Given the description of an element on the screen output the (x, y) to click on. 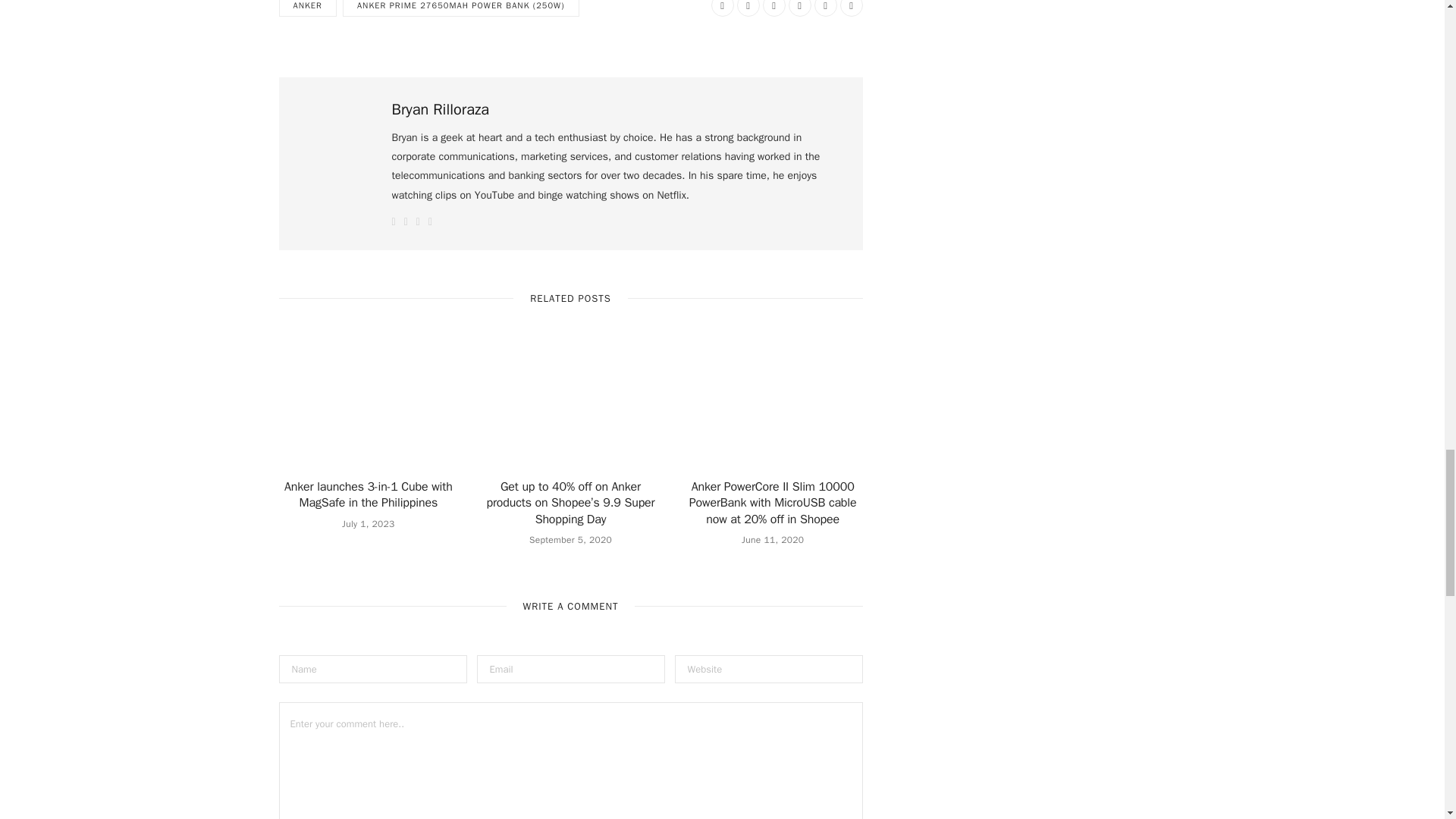
September 5, 2020 (570, 539)
Reddit (774, 8)
Anker launches 3-in-1 Cube with MagSafe in the Philippines (367, 495)
Posts by Bryan Rilloraza (440, 109)
Email (851, 8)
Facebook (722, 8)
ANKER (307, 8)
Bryan Rilloraza (440, 109)
Pinterest (799, 8)
Anker launches 3-in-1 Cube with MagSafe in the Philippines (368, 406)
Twitter (748, 8)
July 1, 2023 (368, 523)
LinkedIn (825, 8)
